Given the description of an element on the screen output the (x, y) to click on. 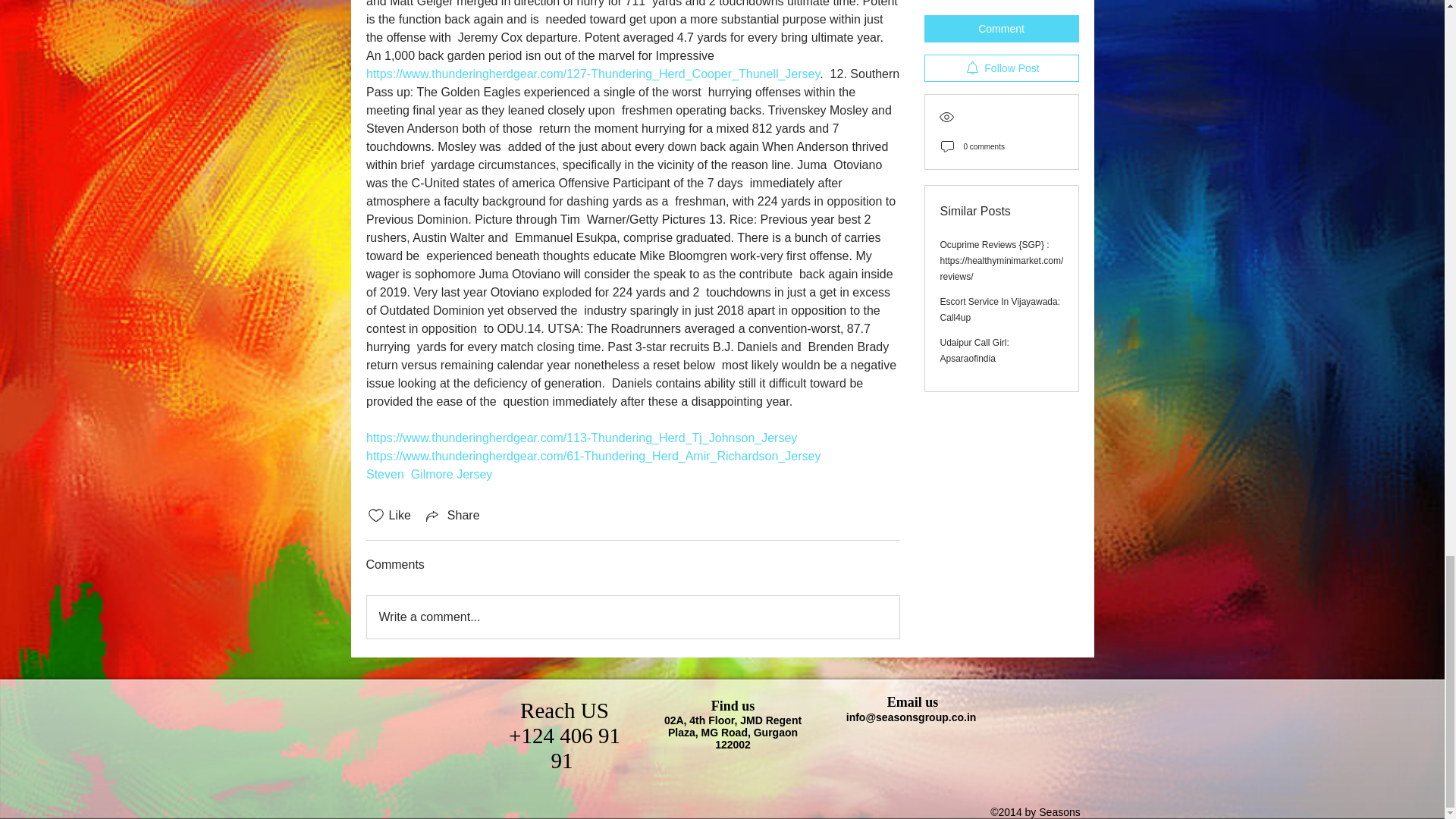
Share (451, 515)
Steven  Gilmore Jersey (428, 473)
Write a comment... (632, 617)
